Given the description of an element on the screen output the (x, y) to click on. 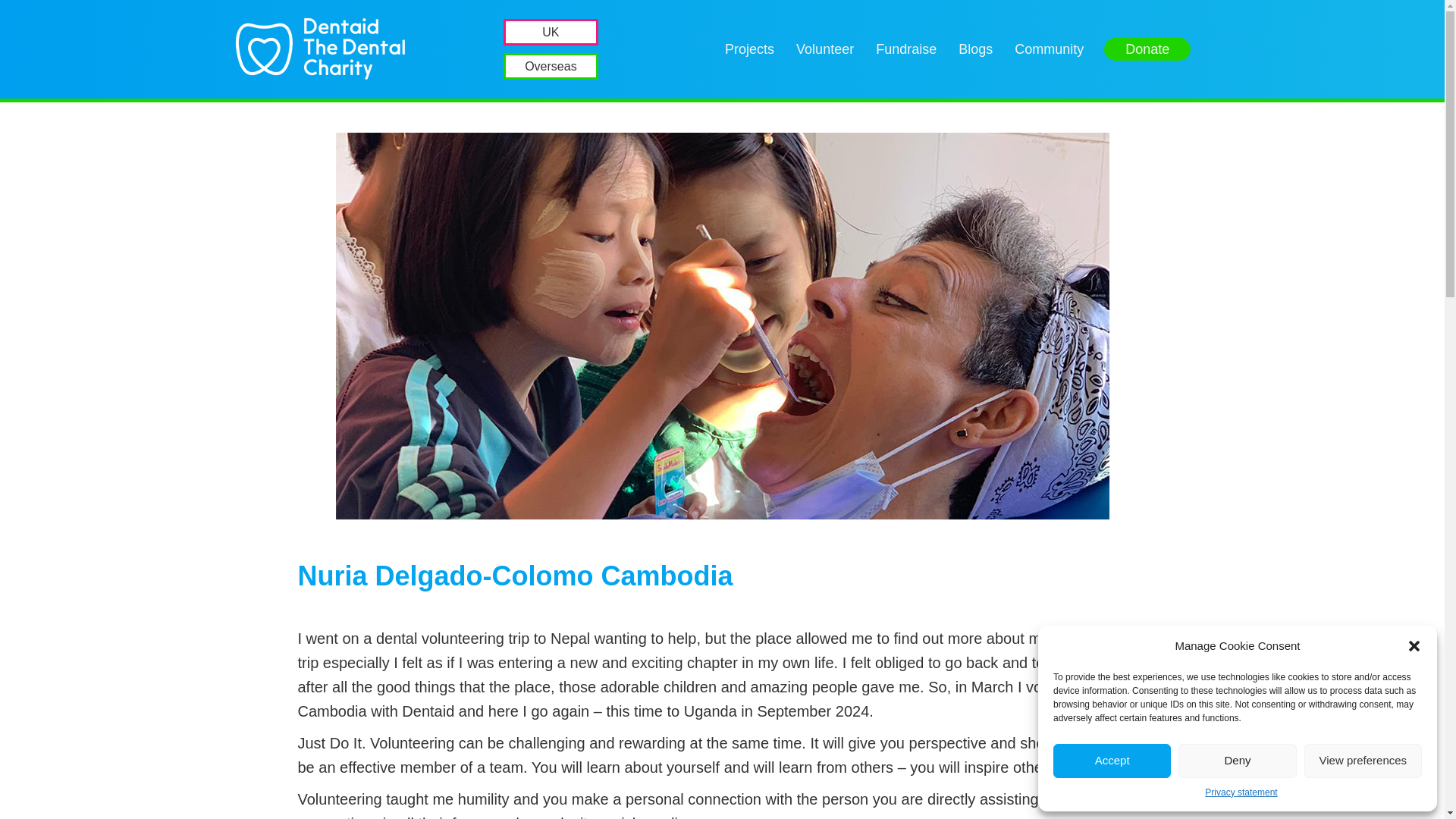
Donate (1147, 48)
UK (550, 31)
Overseas (550, 66)
Accept (1111, 760)
Projects (749, 48)
Privacy statement (1240, 792)
Deny (1236, 760)
Dentaid-Logo-White-No-BG-225 (320, 49)
Community (1049, 48)
Blogs (975, 48)
Volunteer (825, 48)
View preferences (1363, 760)
Fundraise (905, 48)
